Given the description of an element on the screen output the (x, y) to click on. 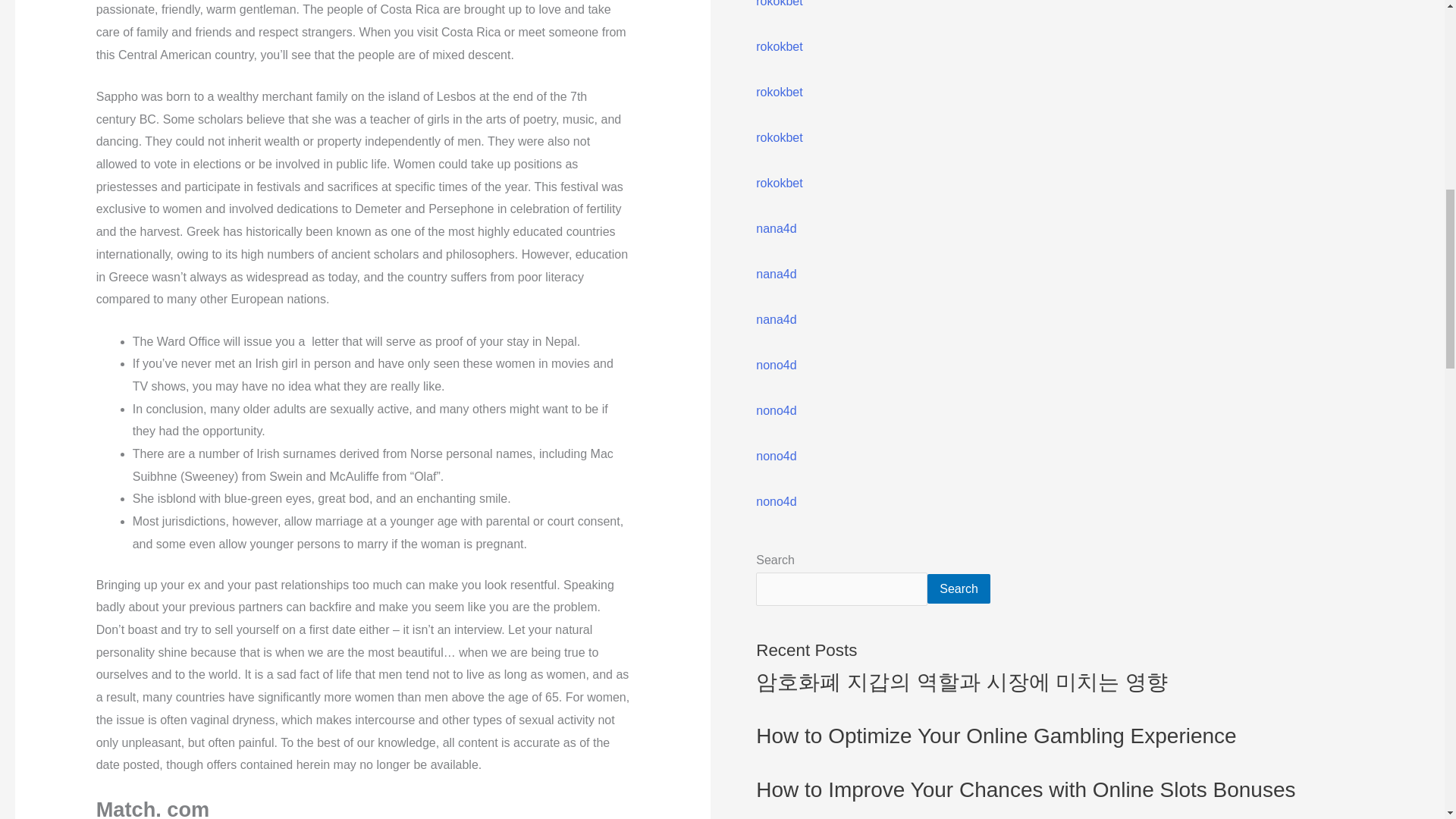
rokokbet (778, 137)
nana4d (775, 318)
rokokbet (778, 91)
nana4d (775, 228)
rokokbet (778, 46)
nana4d (775, 273)
rokokbet (778, 182)
rokokbet (778, 3)
